Given the description of an element on the screen output the (x, y) to click on. 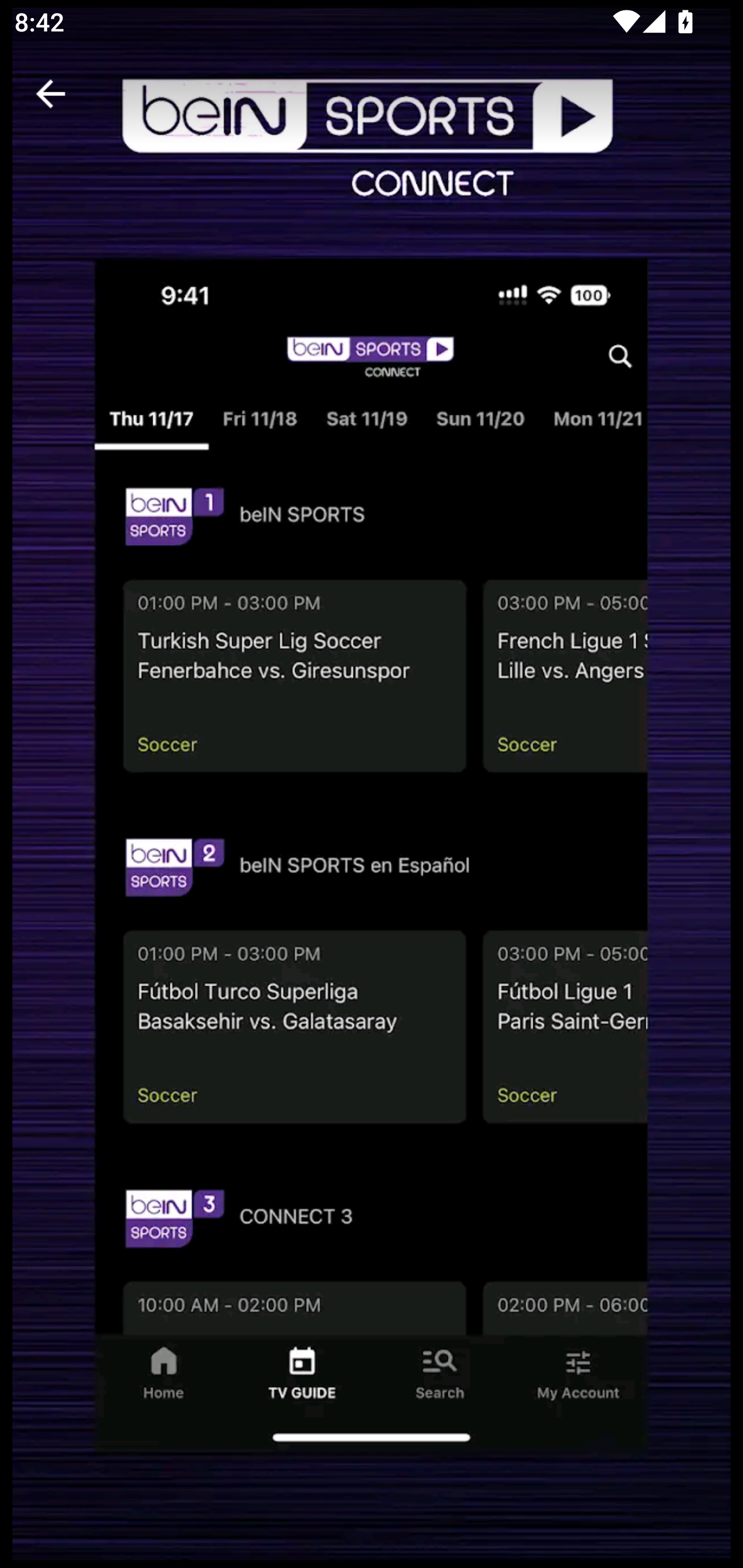
Back (50, 93)
